Given the description of an element on the screen output the (x, y) to click on. 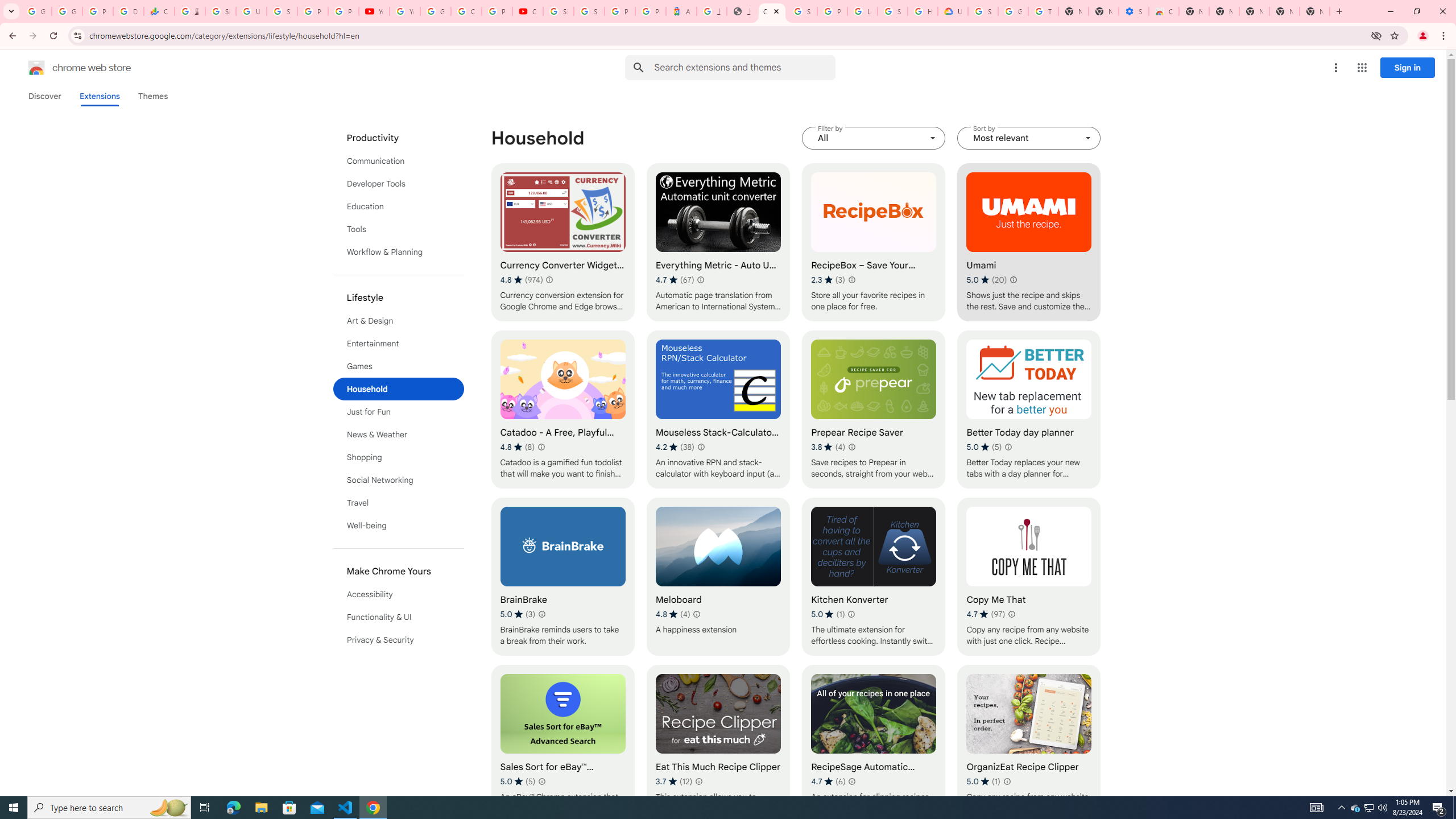
Accessibility (398, 594)
Average rating 5 out of 5 stars. 1 rating. (983, 781)
Privacy & Security (398, 639)
Entertainment (398, 343)
Average rating 5 out of 5 stars. 20 ratings. (986, 279)
Content Creator Programs & Opportunities - YouTube Creators (527, 11)
Atour Hotel - Google hotels (681, 11)
Sort by Most relevant (1028, 137)
